Given the description of an element on the screen output the (x, y) to click on. 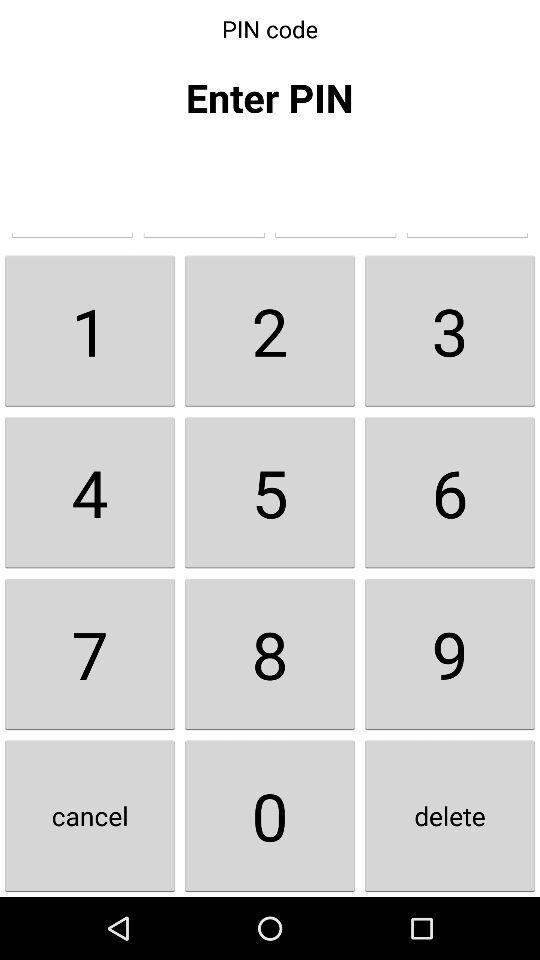
turn on 7 button (90, 654)
